Given the description of an element on the screen output the (x, y) to click on. 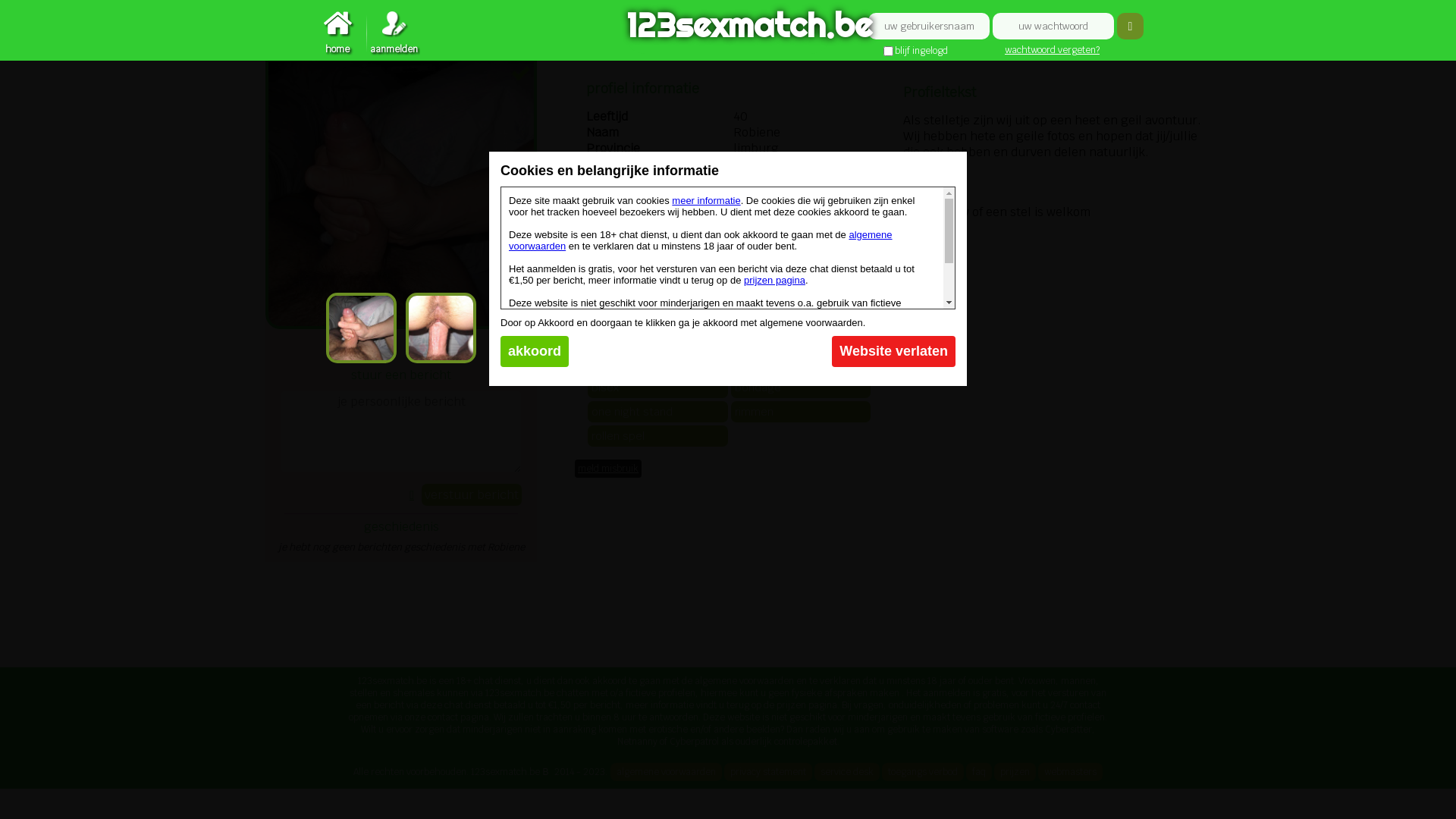
one night stand Element type: text (657, 411)
home Element type: text (337, 33)
meld misbruik Element type: text (607, 468)
algemene voorwaarden Element type: text (700, 240)
rollen spel Element type: text (657, 435)
gecontroleerd profiel Element type: hover (520, 73)
verstuur bericht Element type: text (471, 494)
privacy statement Element type: text (767, 771)
algemene voorwaarden Element type: text (665, 771)
prijzen pagina Element type: text (774, 279)
webmasters Element type: text (1069, 771)
akkoord Element type: text (534, 351)
toegangs verbod Element type: text (922, 771)
prijzen Element type: text (1014, 771)
wachtwoord vergeten? Element type: text (1051, 49)
bisex Element type: text (657, 387)
service desk Element type: text (846, 771)
bondage Element type: text (801, 387)
Website verlaten Element type: text (893, 351)
rimmen Element type: text (801, 411)
meer informatie Element type: text (705, 200)
contact pagina Element type: text (896, 348)
faq Element type: text (978, 771)
123sexmatch.be Element type: text (727, 26)
aanmelden Element type: text (393, 33)
